Given the description of an element on the screen output the (x, y) to click on. 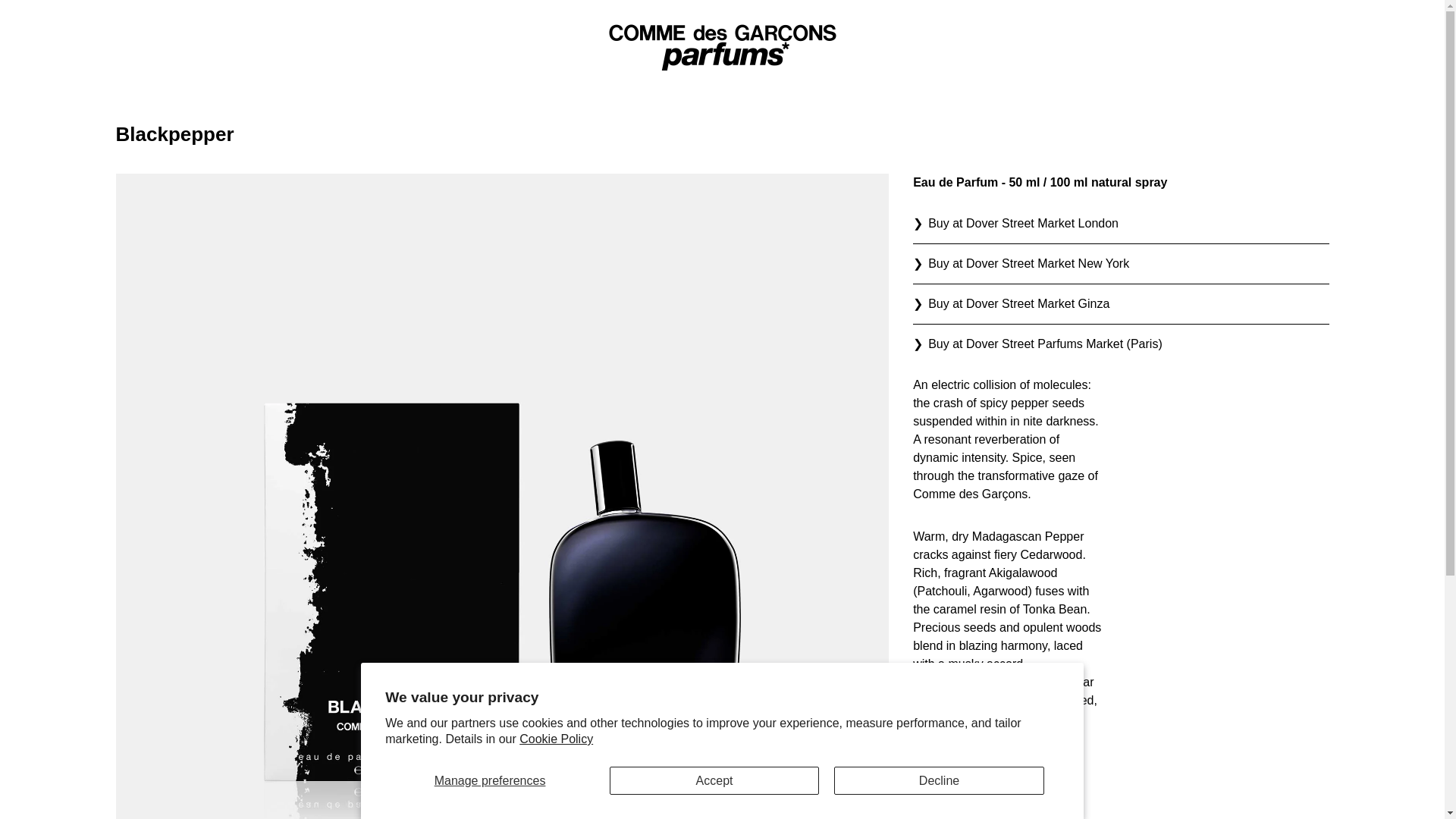
Accept (714, 780)
Manage preferences (489, 780)
Buy at Dover Street Market Ginza (1119, 304)
Decline (938, 780)
Buy at Dover Street Market London (1119, 223)
Buy at Dover Street Market New York (1119, 264)
Cookie Policy (555, 738)
